Given the description of an element on the screen output the (x, y) to click on. 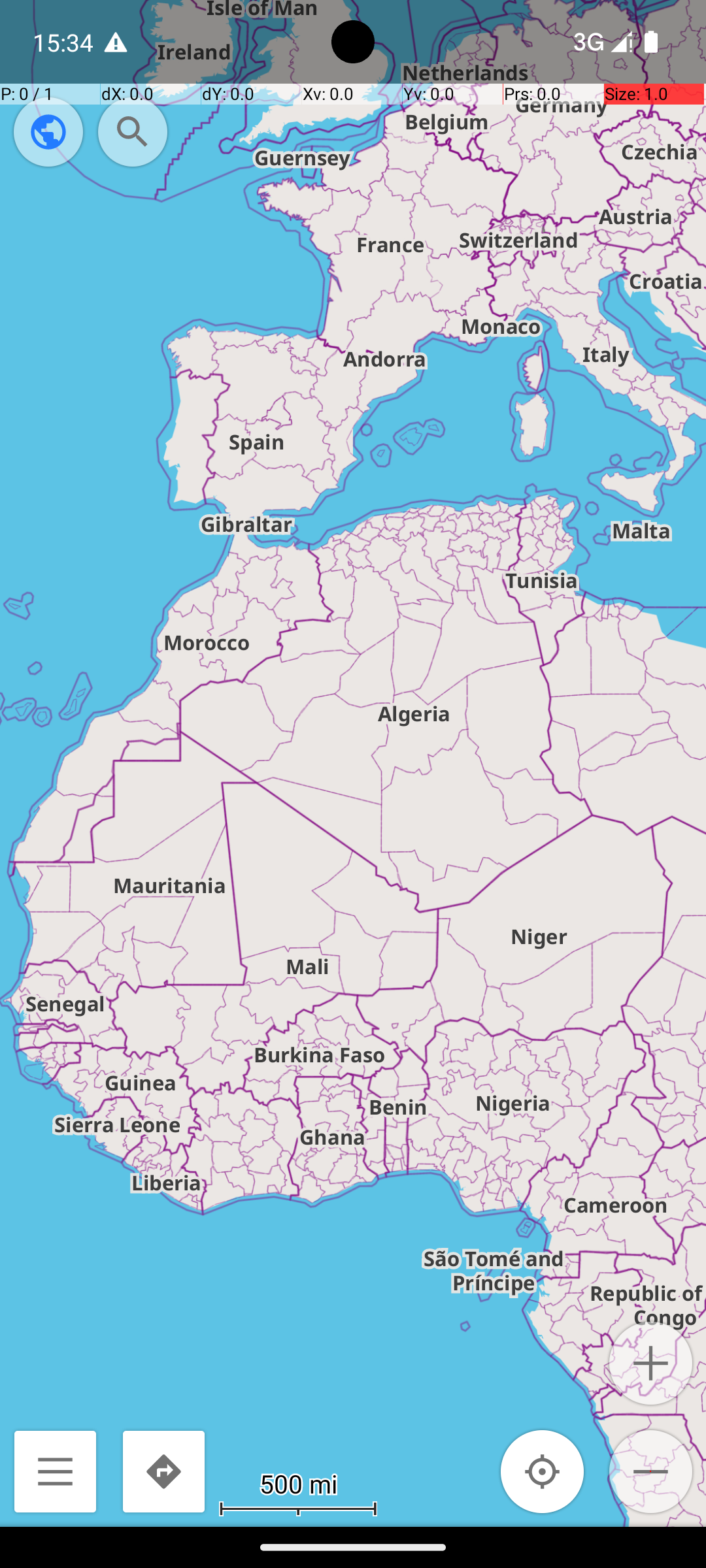
500 mi Element type: android.widget.TextView (297, 1483)
